Given the description of an element on the screen output the (x, y) to click on. 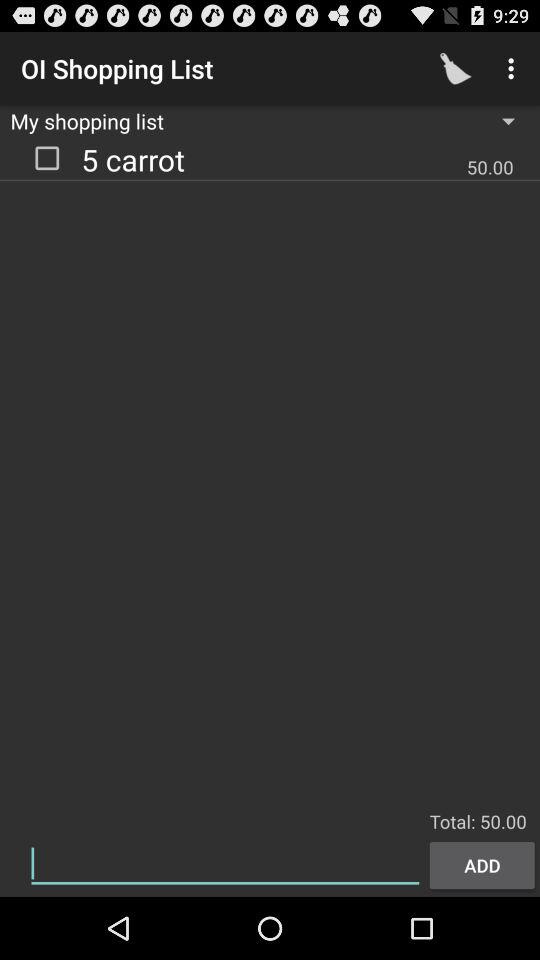
textbox (225, 863)
